Given the description of an element on the screen output the (x, y) to click on. 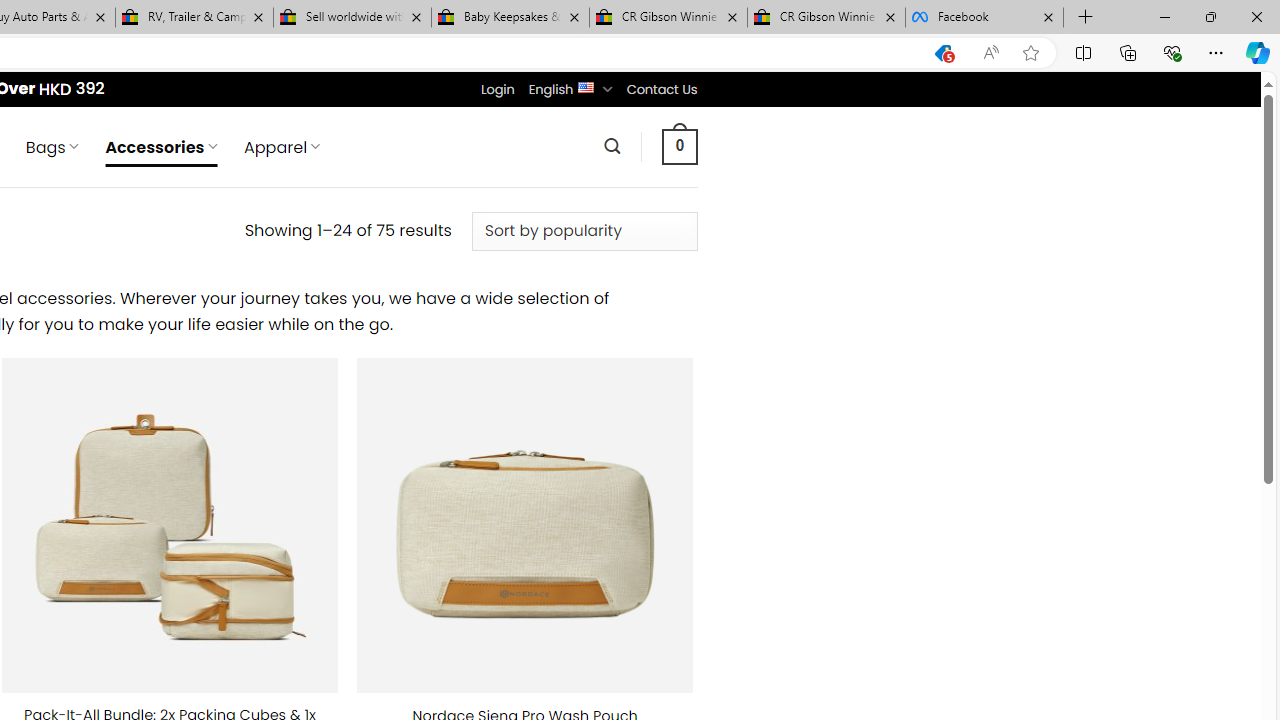
This site has coupons! Shopping in Microsoft Edge, 5 (943, 53)
English (586, 86)
